Given the description of an element on the screen output the (x, y) to click on. 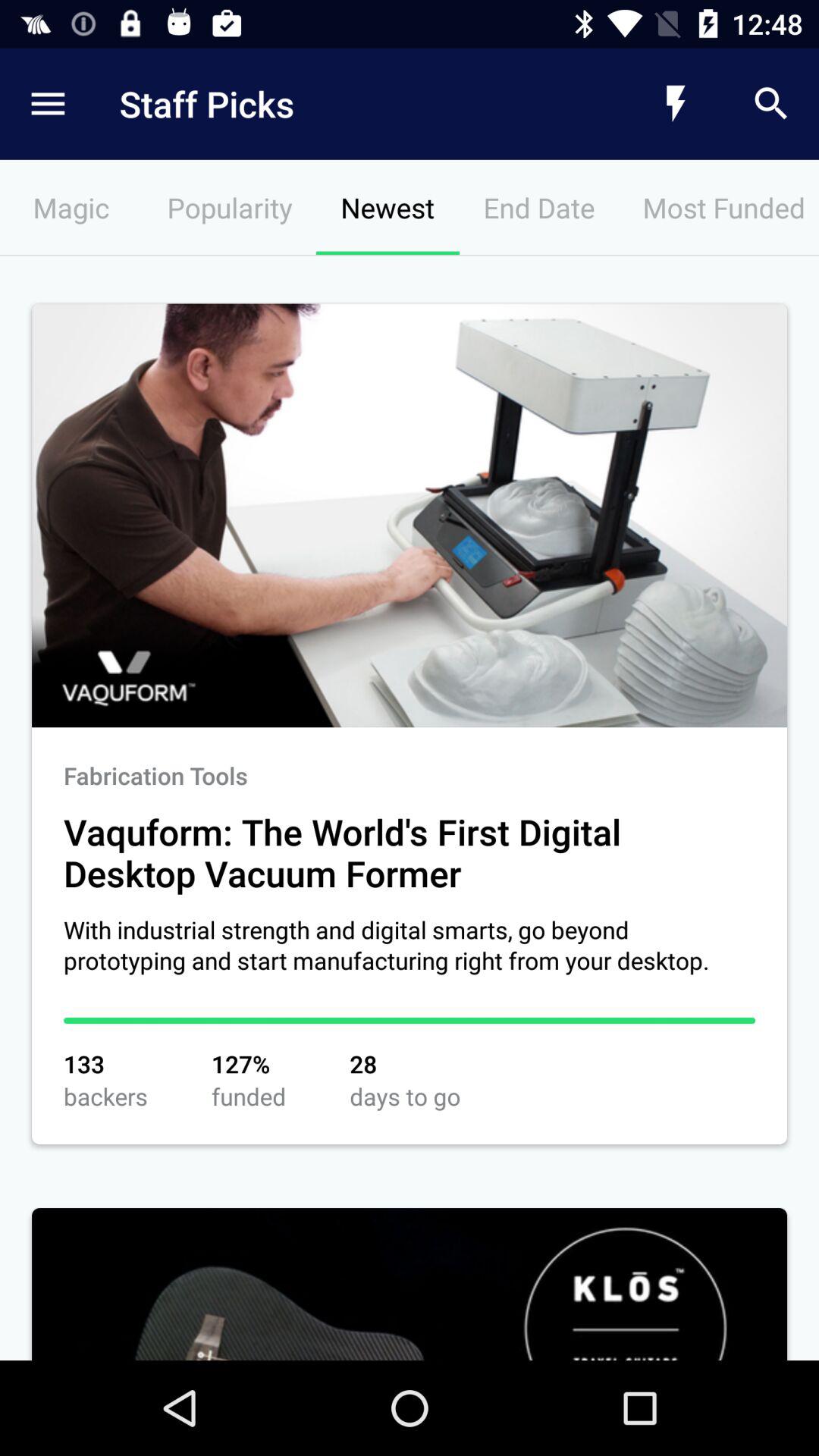
turn on item next to the staff picks (47, 103)
